Given the description of an element on the screen output the (x, y) to click on. 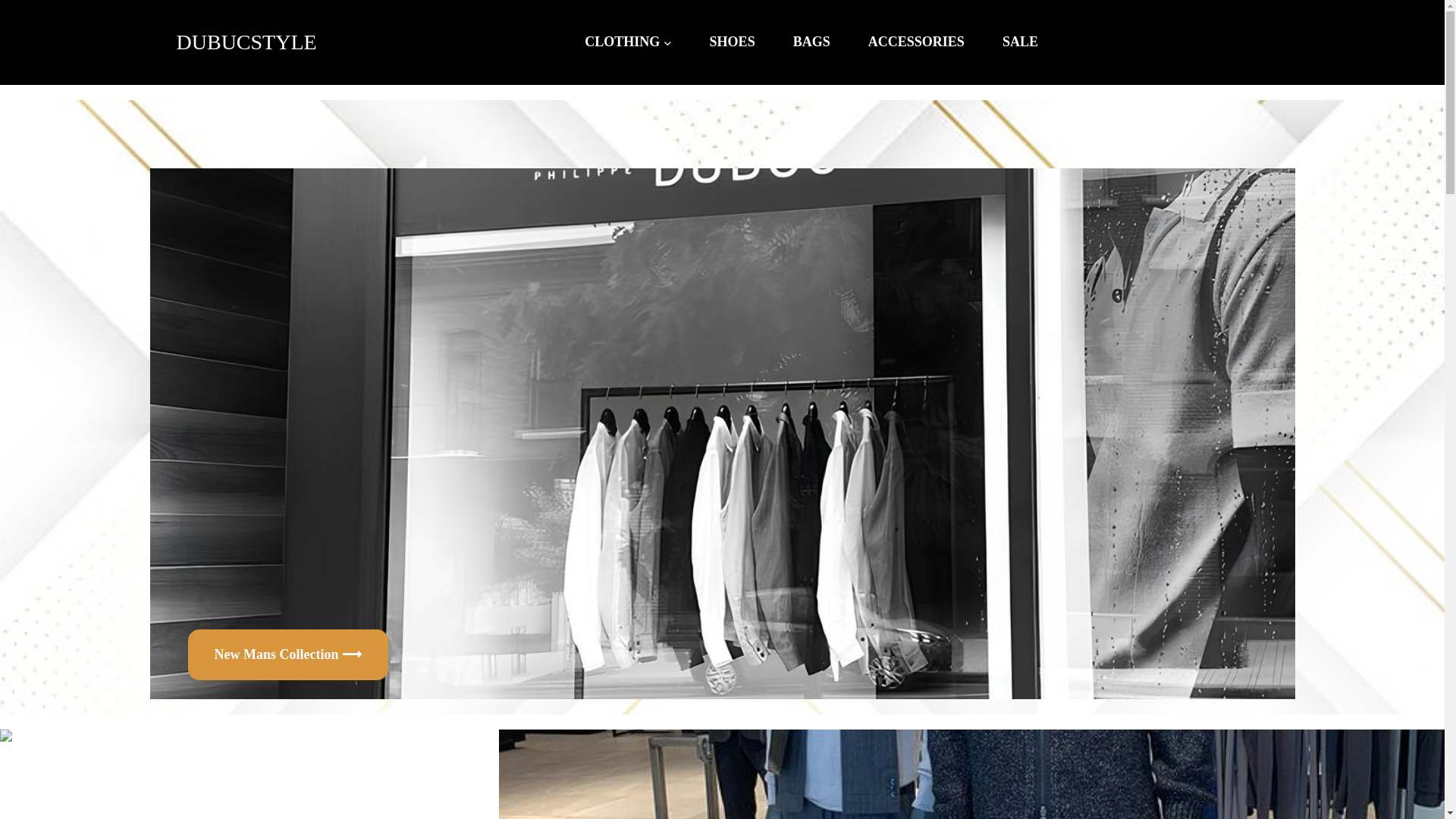
SHOES (732, 42)
BAGS (811, 42)
DUBUCSTYLE (246, 42)
CLOTHING (622, 42)
ACCESSORIES (915, 42)
SALE (1020, 42)
